Given the description of an element on the screen output the (x, y) to click on. 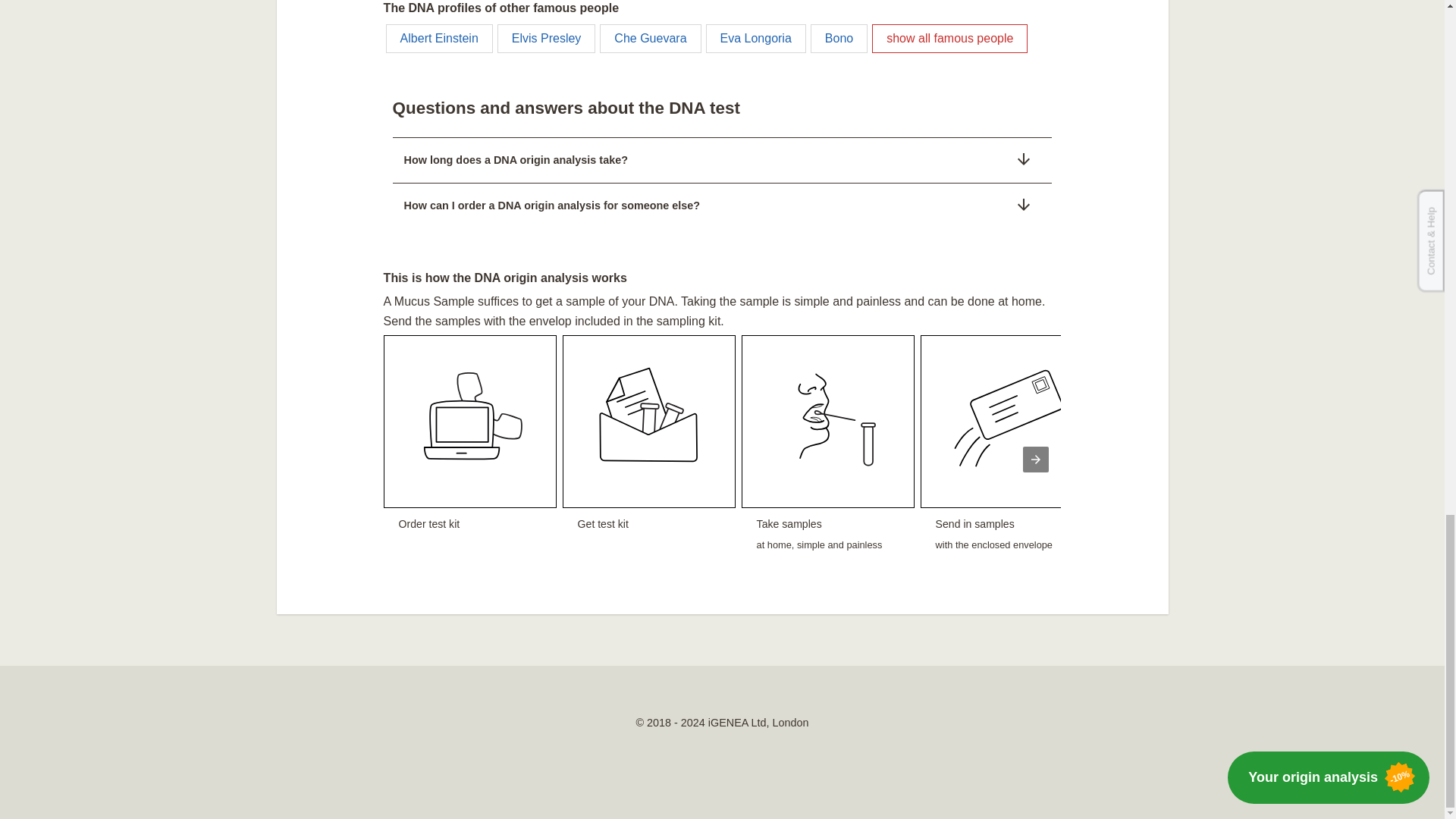
Order test kit (470, 458)
The DNA profile of Eva Longoria (827, 458)
The DNA profile of Albert Einstein (756, 38)
The DNA profile of Elvis Presley (1185, 458)
Next item in carousel (439, 38)
The DNA profile of Che Guevara (546, 38)
Bono (1035, 459)
Eva Longoria (649, 38)
Albert Einstein (838, 38)
Get test kit (756, 38)
show all famous people (827, 458)
